Given the description of an element on the screen output the (x, y) to click on. 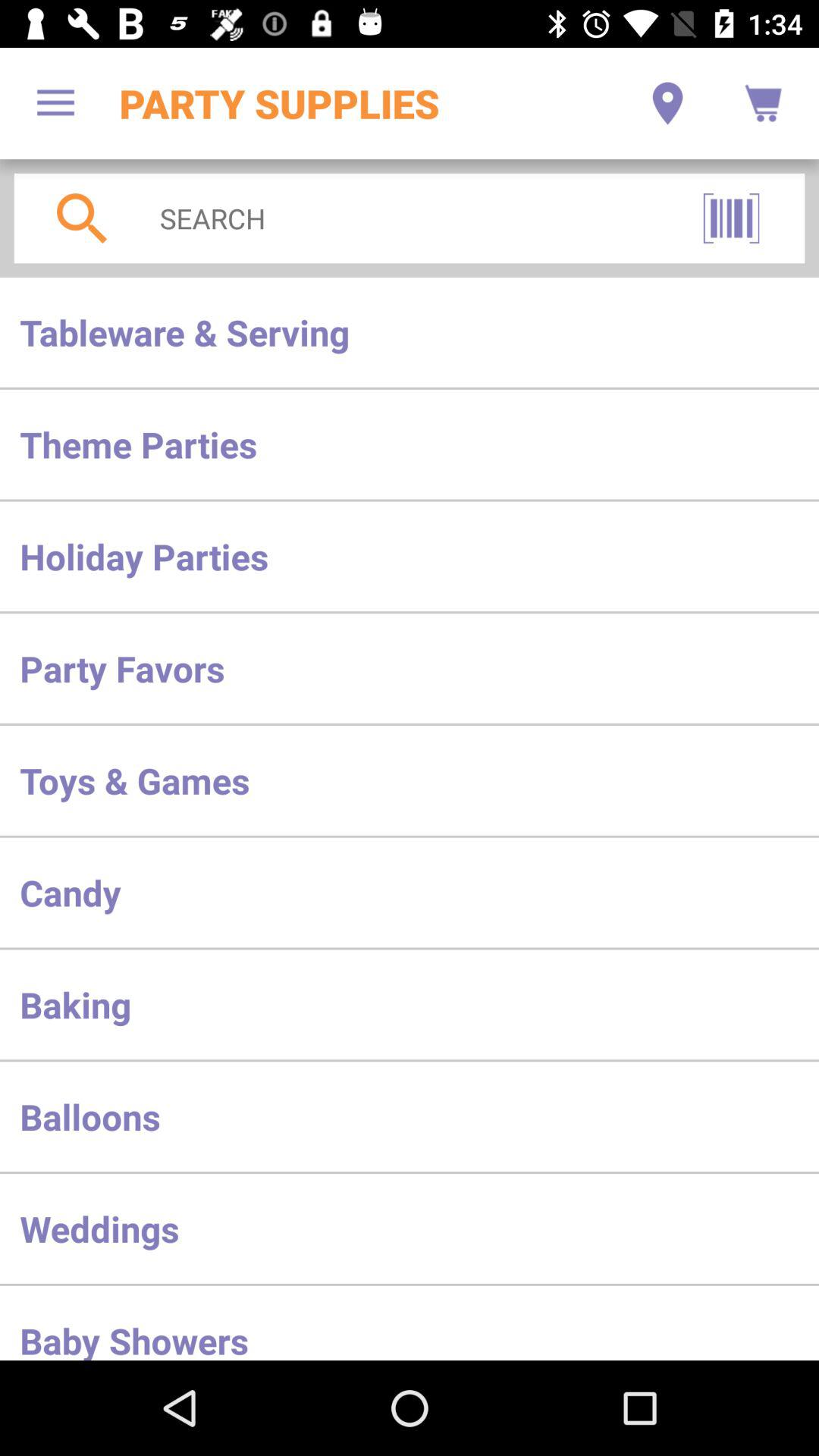
turn on the icon above the tableware & serving icon (403, 218)
